Given the description of an element on the screen output the (x, y) to click on. 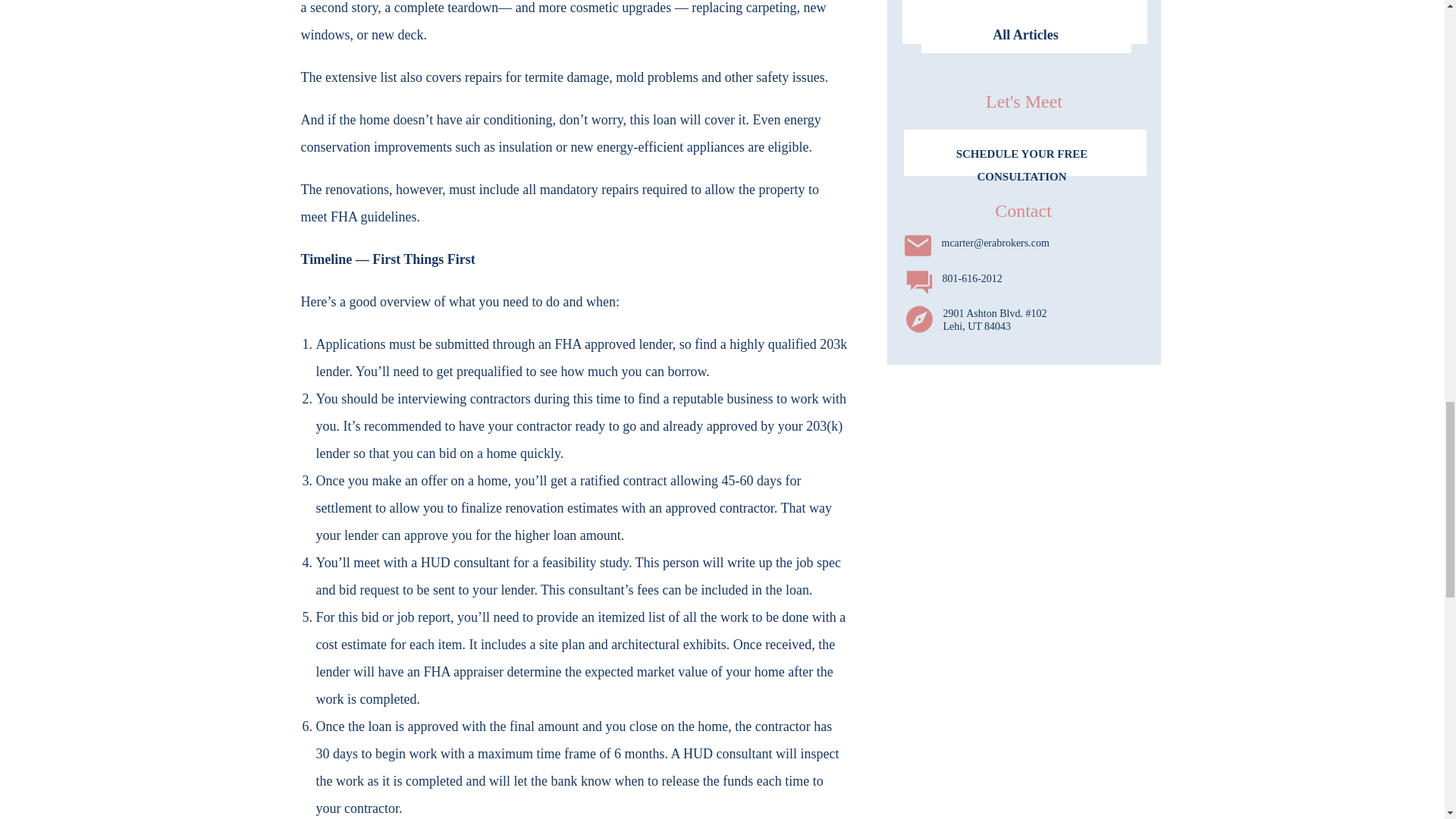
SCHEDULE YOUR FREE CONSULTATION (1021, 150)
All Articles (1025, 34)
